Given the description of an element on the screen output the (x, y) to click on. 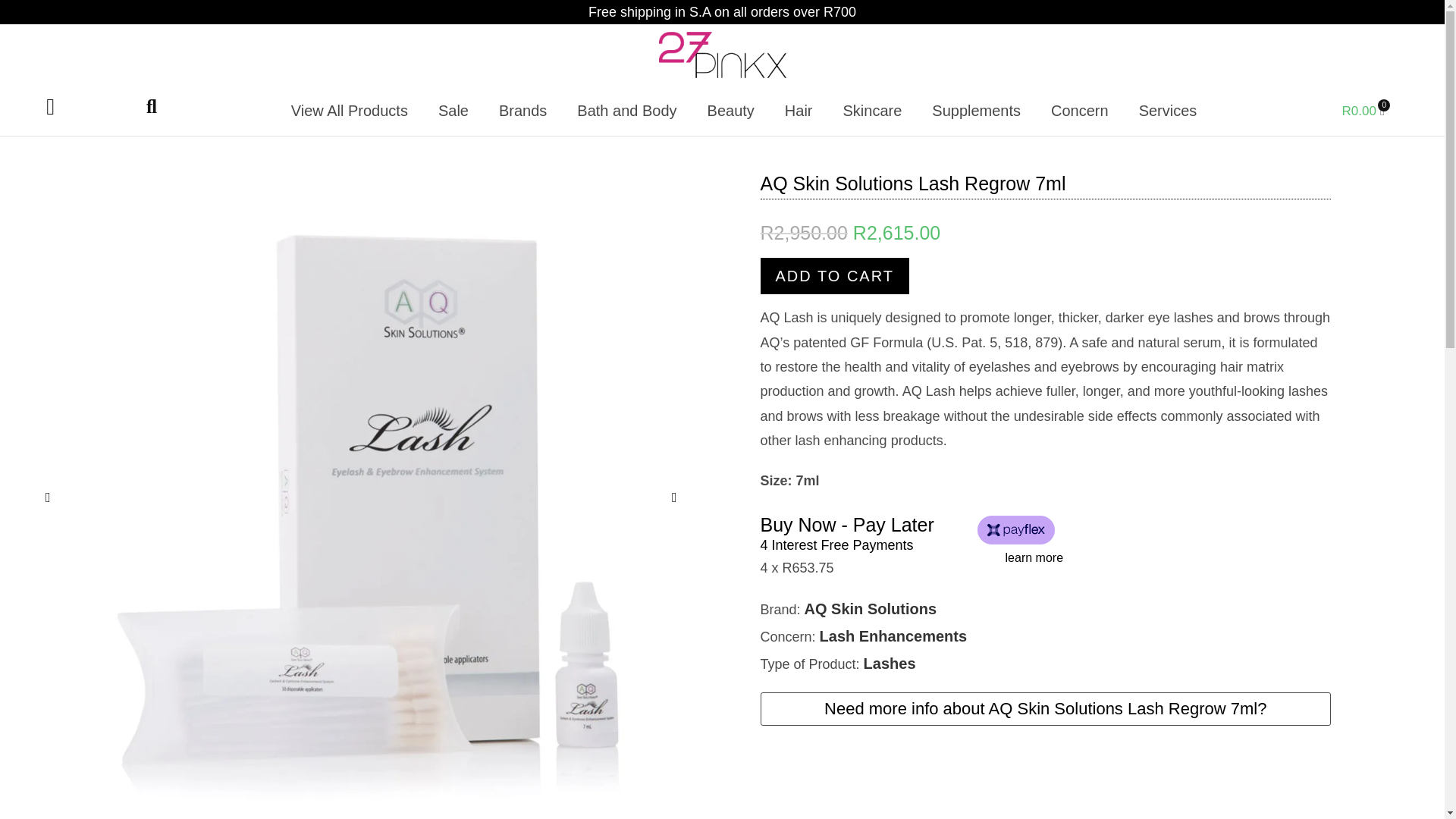
Hair (799, 110)
Brands (522, 110)
AQ Skin Solutions Lash (360, 496)
Bath and Body (626, 110)
Sale (453, 110)
Skincare (872, 110)
Beauty (731, 110)
View All Products (349, 110)
